Given the description of an element on the screen output the (x, y) to click on. 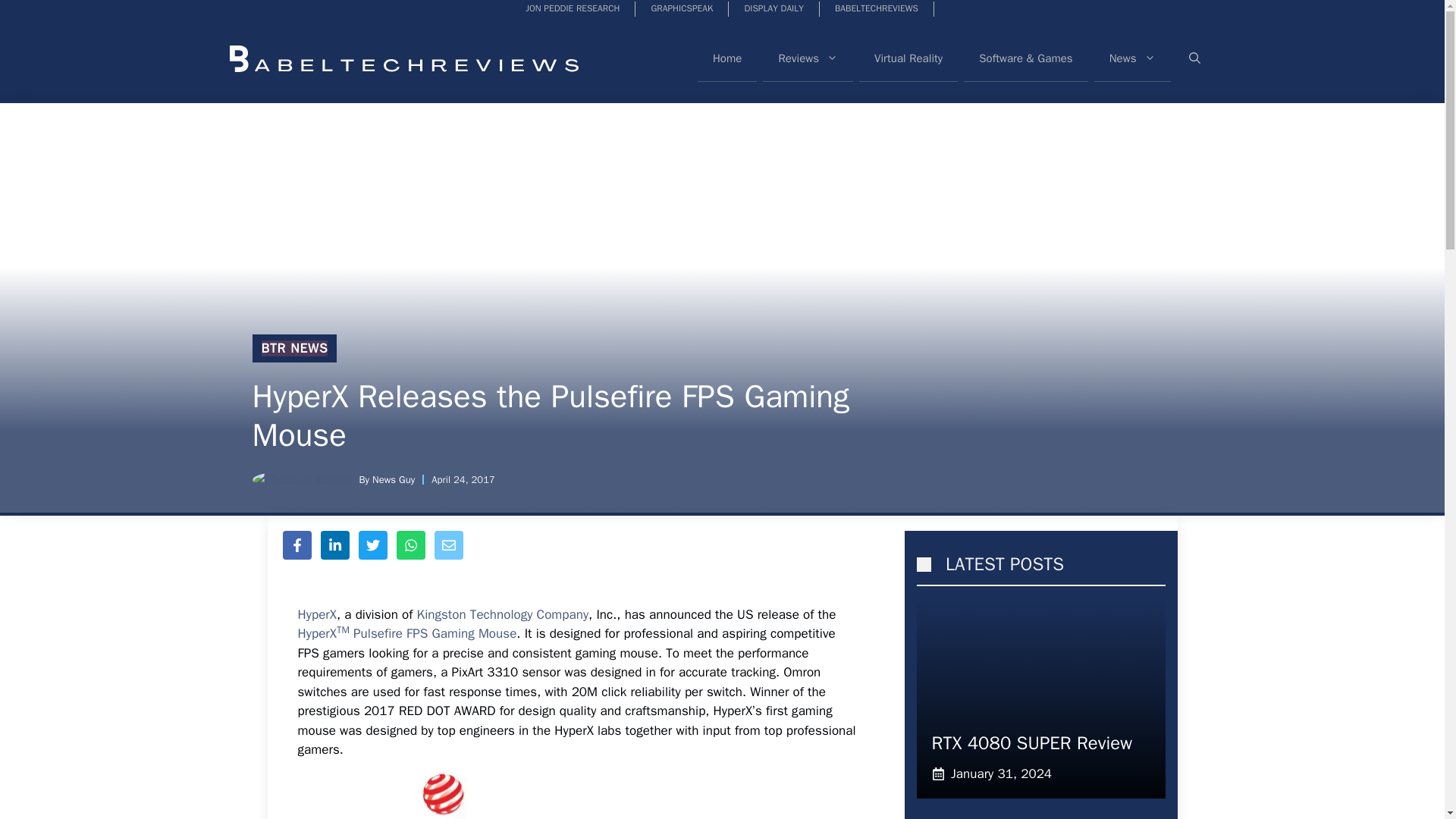
BABELTECHREVIEWS (876, 8)
SORRY, YOUR BROWSER DOES NOT SUPPORT INLINE SVG. (922, 564)
News (1132, 58)
GRAPHICSPEAK (681, 8)
Home (727, 58)
News Guy (393, 479)
Reviews (807, 58)
HyperXTM Pulsefire FPS Gaming Mouse (406, 633)
Kingston Technology Company (502, 614)
JON PEDDIE RESEARCH (572, 8)
